Given the description of an element on the screen output the (x, y) to click on. 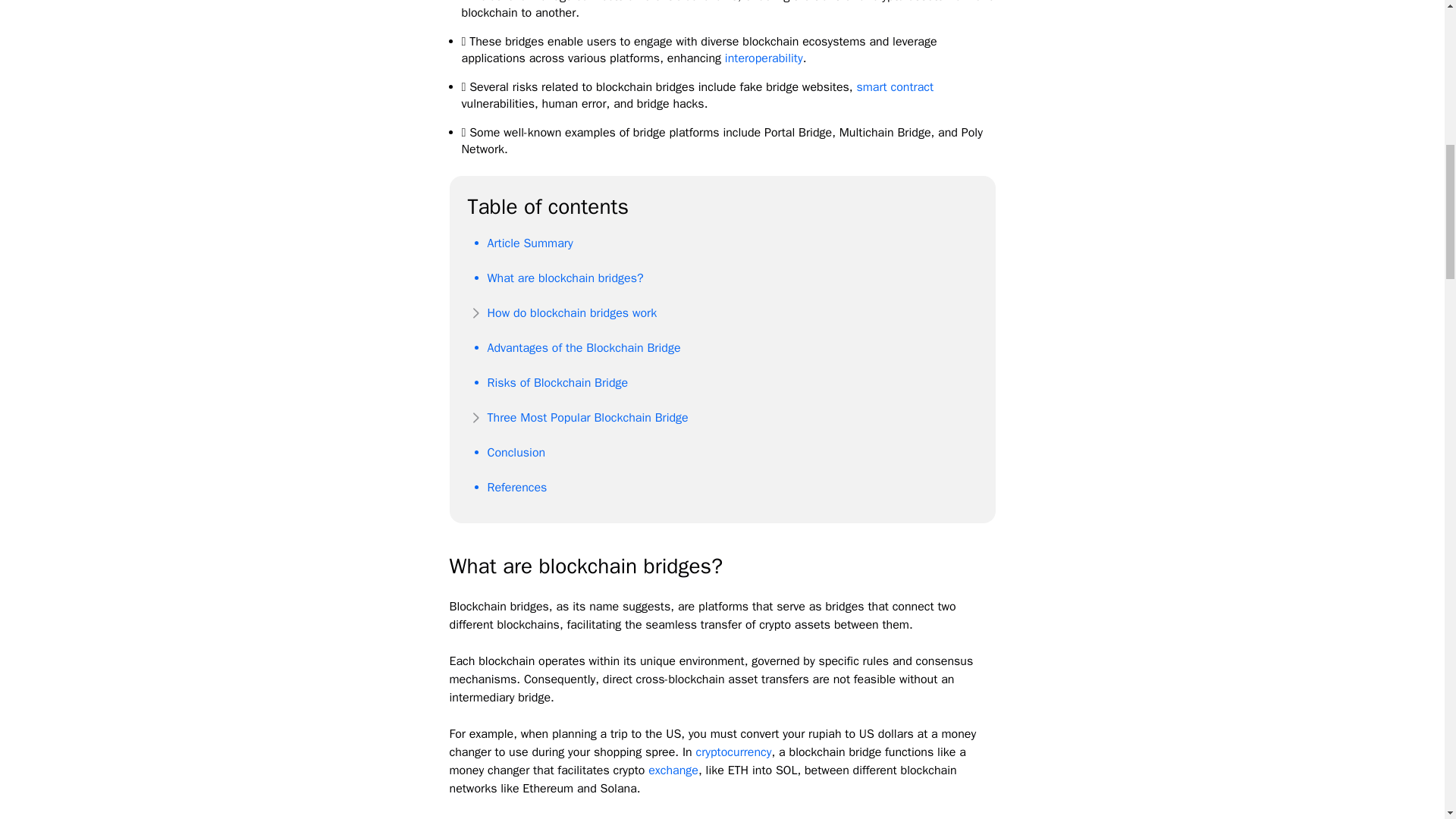
What are blockchain bridges? (564, 278)
Risks of Blockchain Bridge (556, 382)
References (516, 487)
smart contract (894, 87)
References (516, 487)
Article Summary (529, 242)
Three Most Popular Blockchain Bridge (586, 417)
What are blockchain bridges? (564, 278)
interoperability (764, 58)
